Given the description of an element on the screen output the (x, y) to click on. 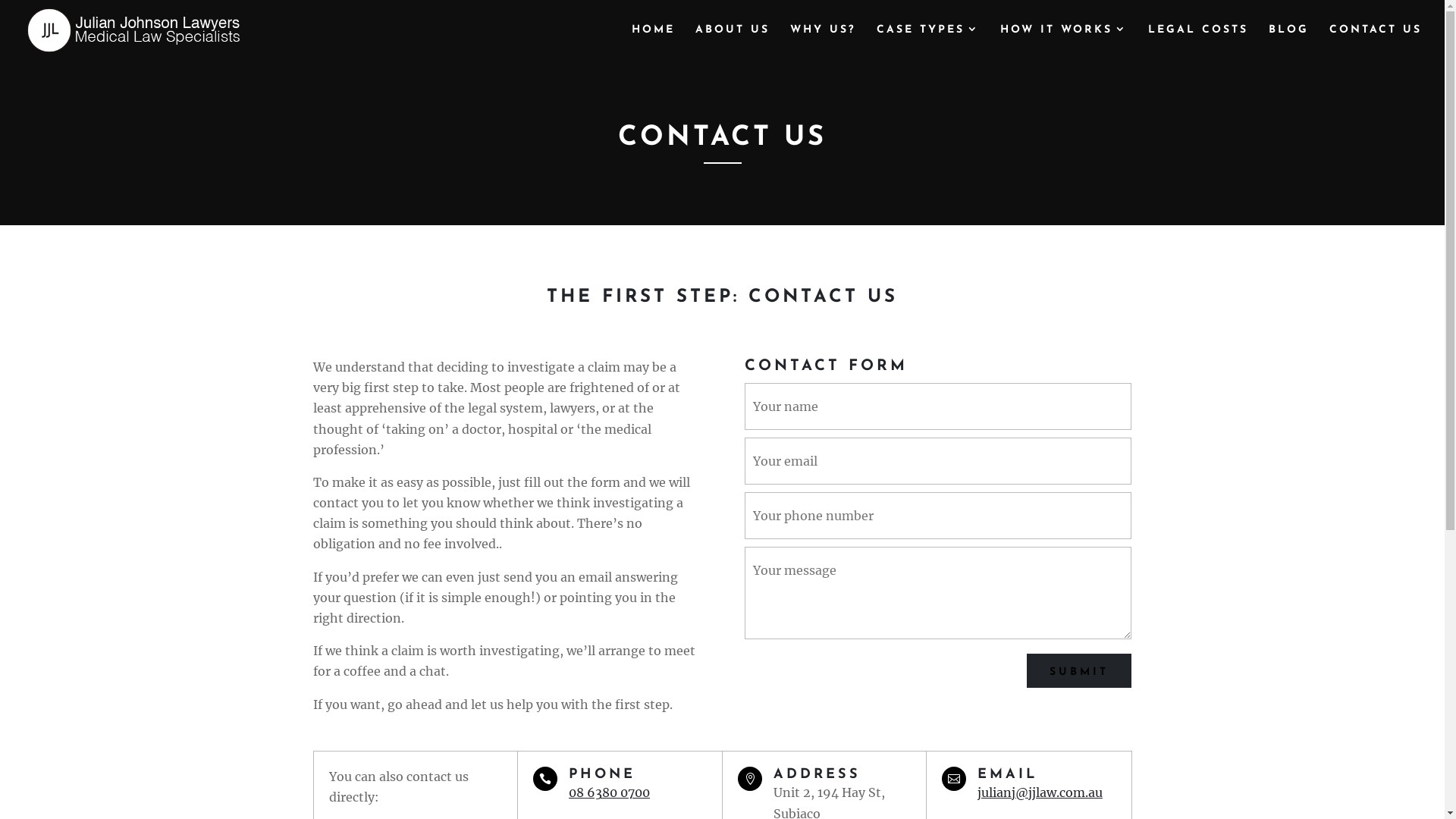
julianj@jjlaw.com.au Element type: text (1039, 792)
LEGAL COSTS Element type: text (1198, 42)
CONTACT US Element type: text (1375, 42)
CASE TYPES Element type: text (927, 42)
08 6380 0700 Element type: text (608, 792)
HOW IT WORKS Element type: text (1063, 42)
BLOG Element type: text (1288, 42)
HOME Element type: text (652, 42)
WHY US? Element type: text (823, 42)
ABOUT US Element type: text (732, 42)
Submit Element type: text (1078, 670)
